Given the description of an element on the screen output the (x, y) to click on. 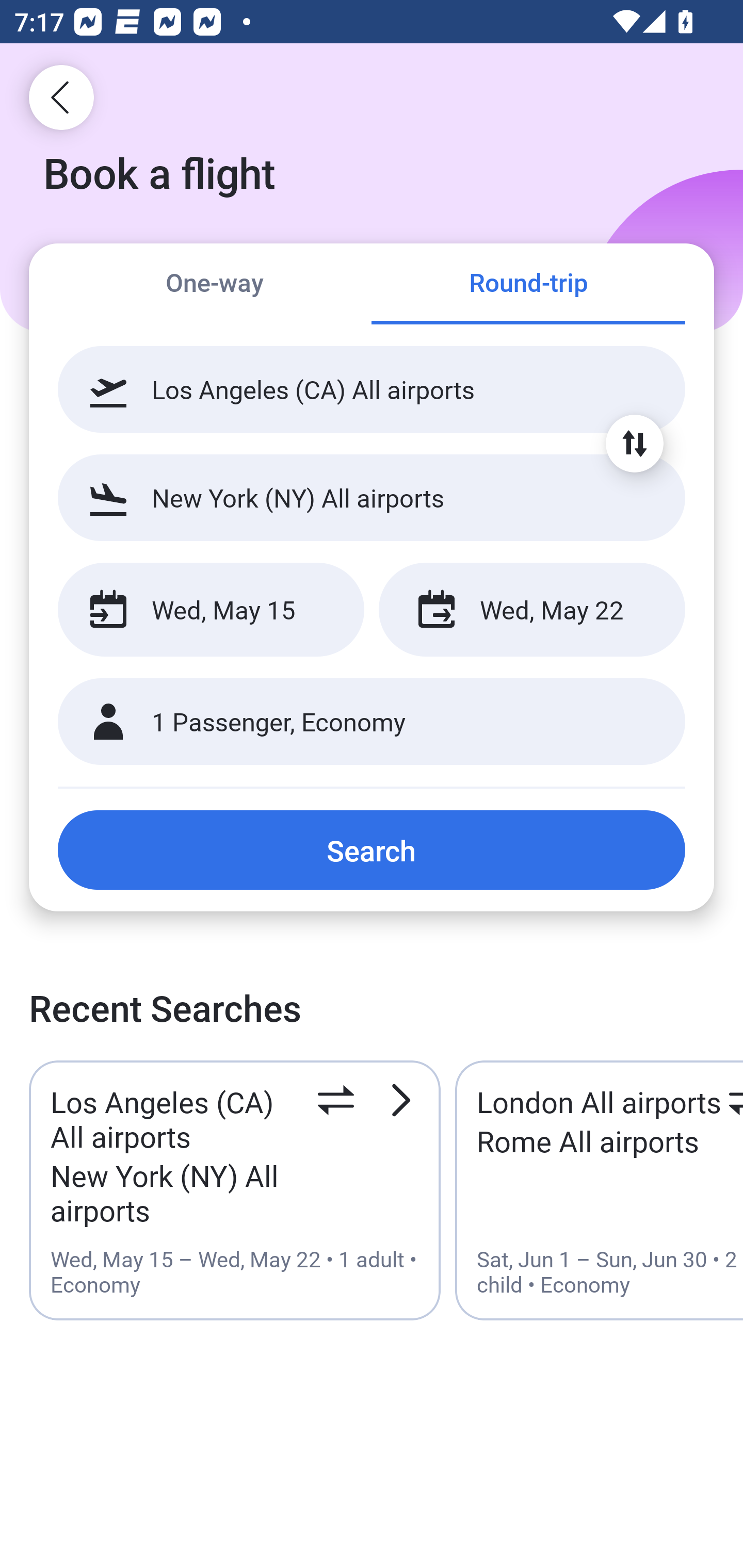
One-way (214, 284)
Los Angeles (CA) All airports (371, 389)
New York (NY) All airports (371, 497)
Wed, May 15 (210, 609)
Wed, May 22 (531, 609)
1 Passenger, Economy (371, 721)
Search (371, 849)
